Given the description of an element on the screen output the (x, y) to click on. 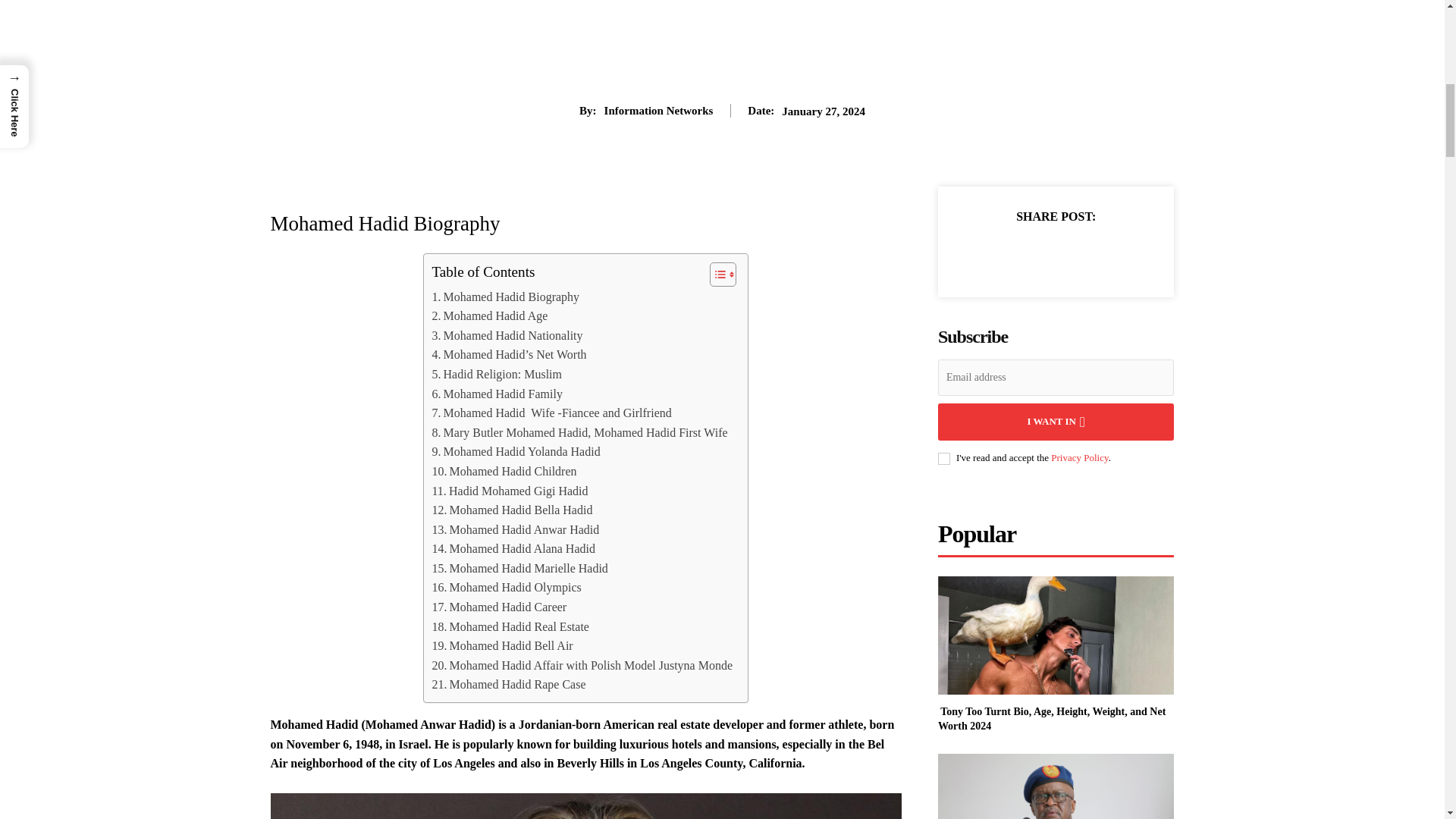
Mohamed Hadid Nationality (506, 335)
Mohamed Hadid Age (488, 315)
Advertisement (722, 52)
Mohamed Hadid Biography (504, 297)
